Given the description of an element on the screen output the (x, y) to click on. 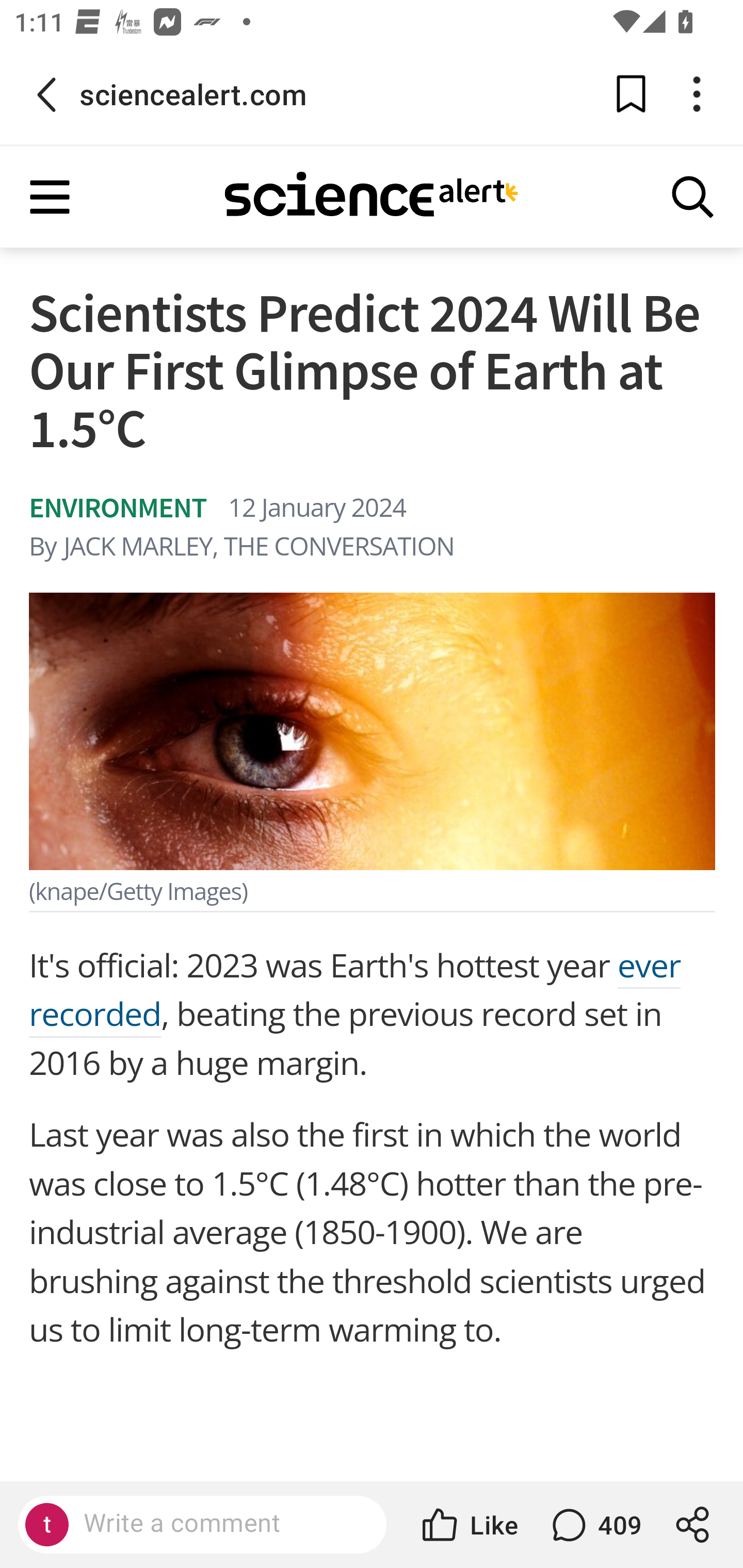
Like (468, 1524)
409 (594, 1524)
Write a comment (219, 1523)
